Given the description of an element on the screen output the (x, y) to click on. 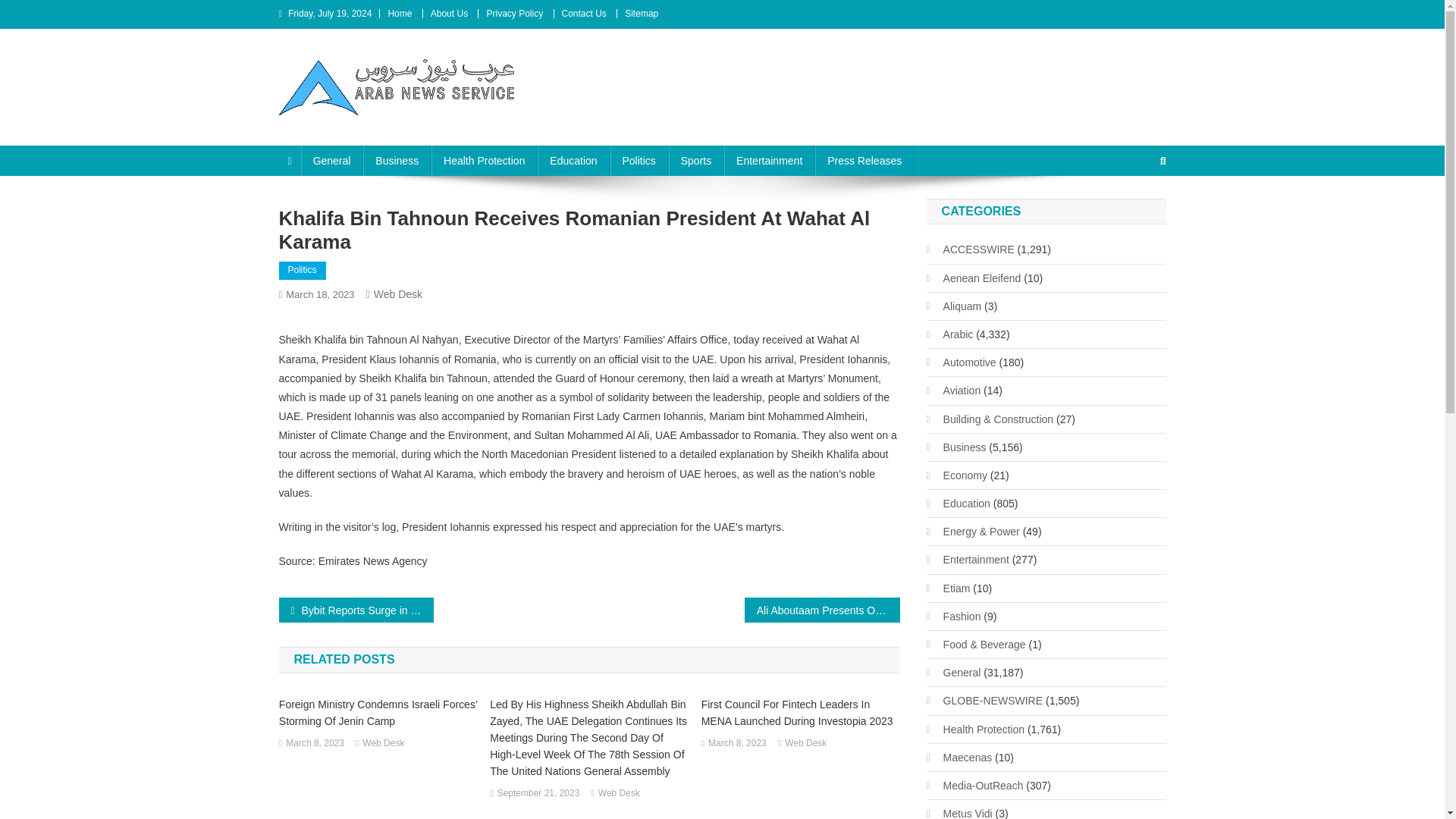
Web Desk (805, 743)
Search (1133, 211)
Politics (638, 160)
Privacy Policy (514, 13)
March 18, 2023 (319, 294)
Arab News Service (388, 130)
Web Desk (383, 743)
About Us (448, 13)
Web Desk (398, 294)
Press Releases (864, 160)
March 8, 2023 (314, 743)
Web Desk (619, 793)
Health Protection (483, 160)
Home (399, 13)
